Given the description of an element on the screen output the (x, y) to click on. 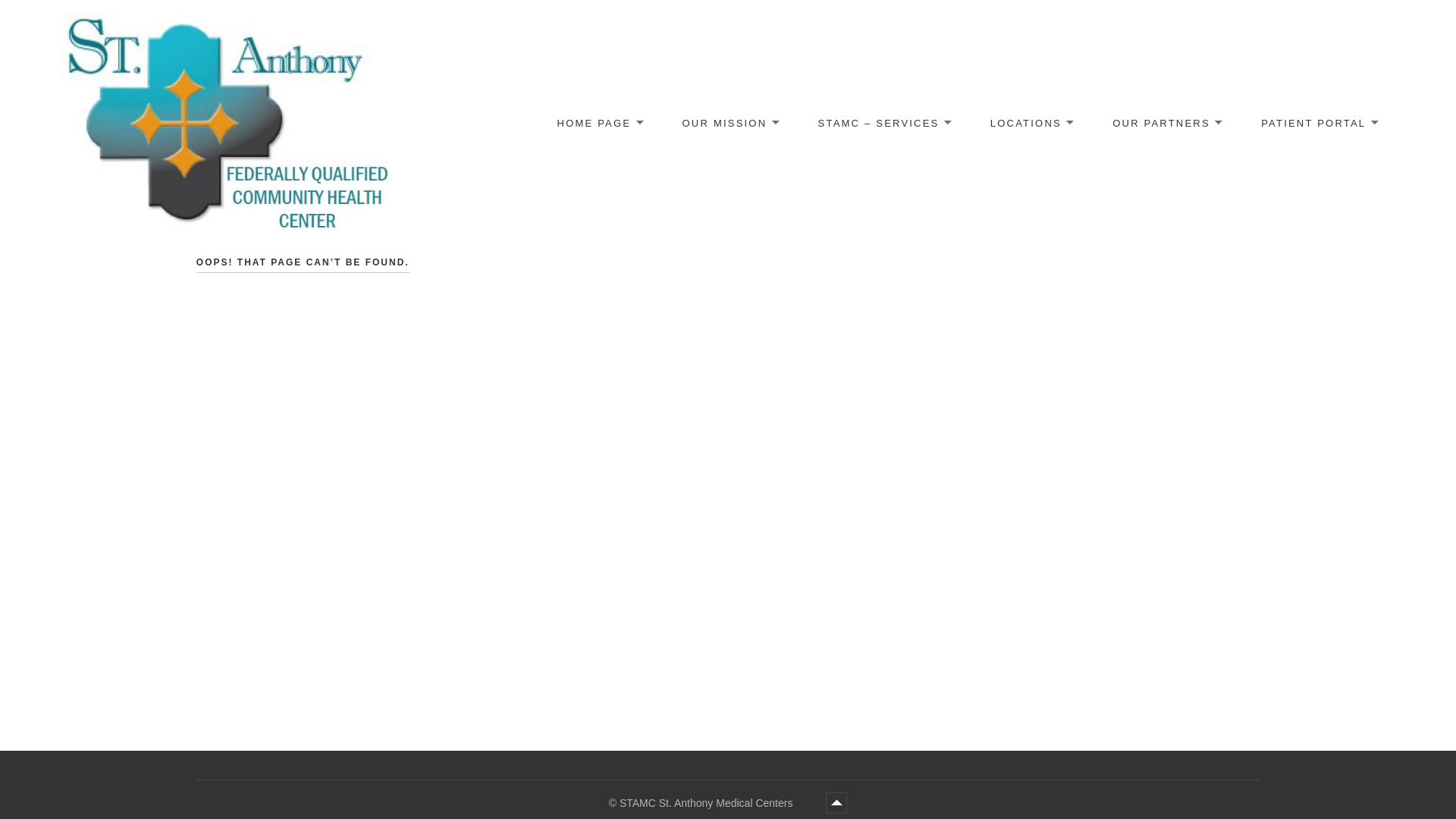
OUR MISSION (730, 124)
LOCATIONS (1030, 124)
HOME PAGE (599, 124)
STAMC (96, 250)
STAMC (707, 802)
